Given the description of an element on the screen output the (x, y) to click on. 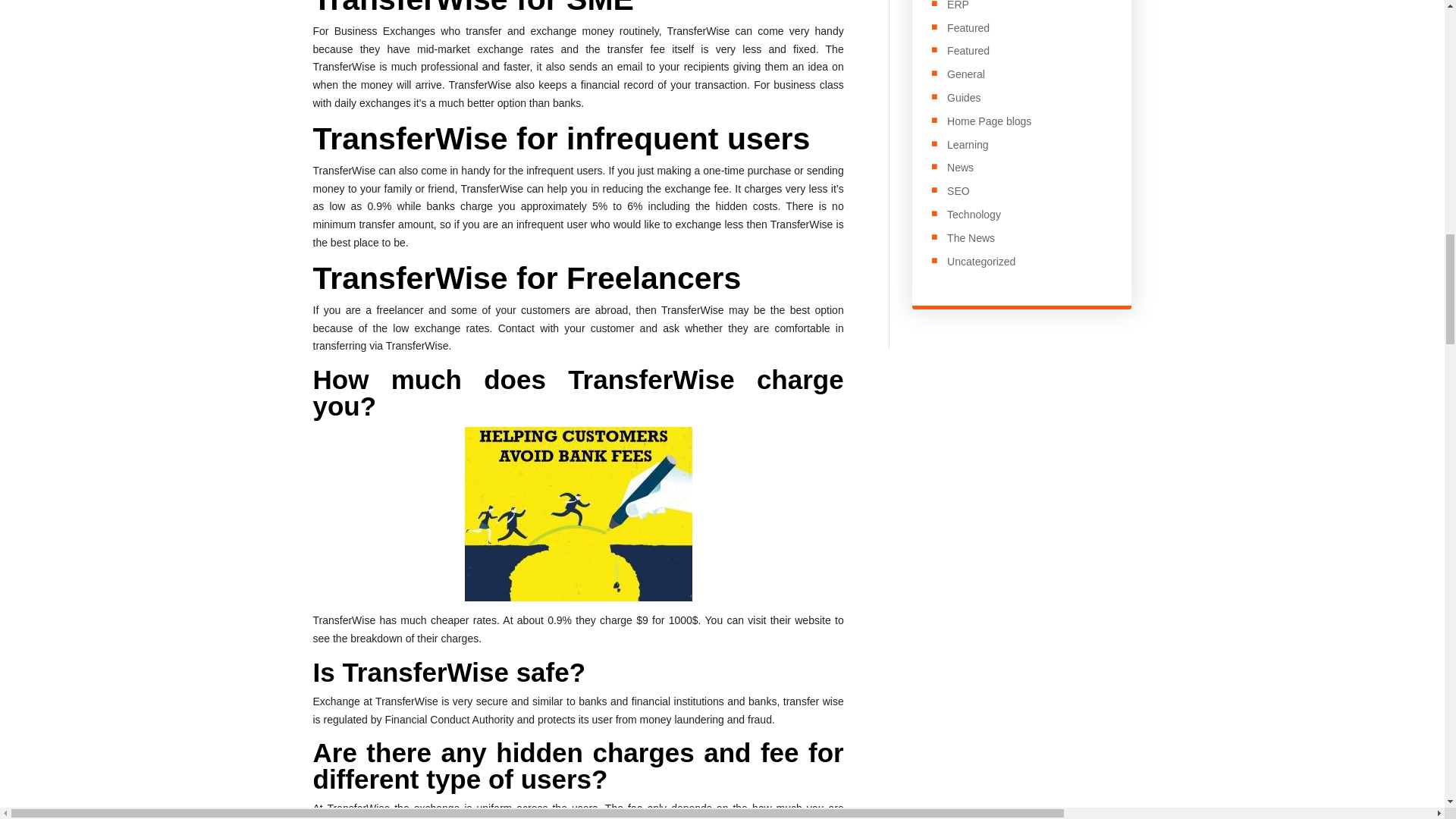
Featured (968, 50)
Featured (968, 28)
ERP (958, 5)
